Given the description of an element on the screen output the (x, y) to click on. 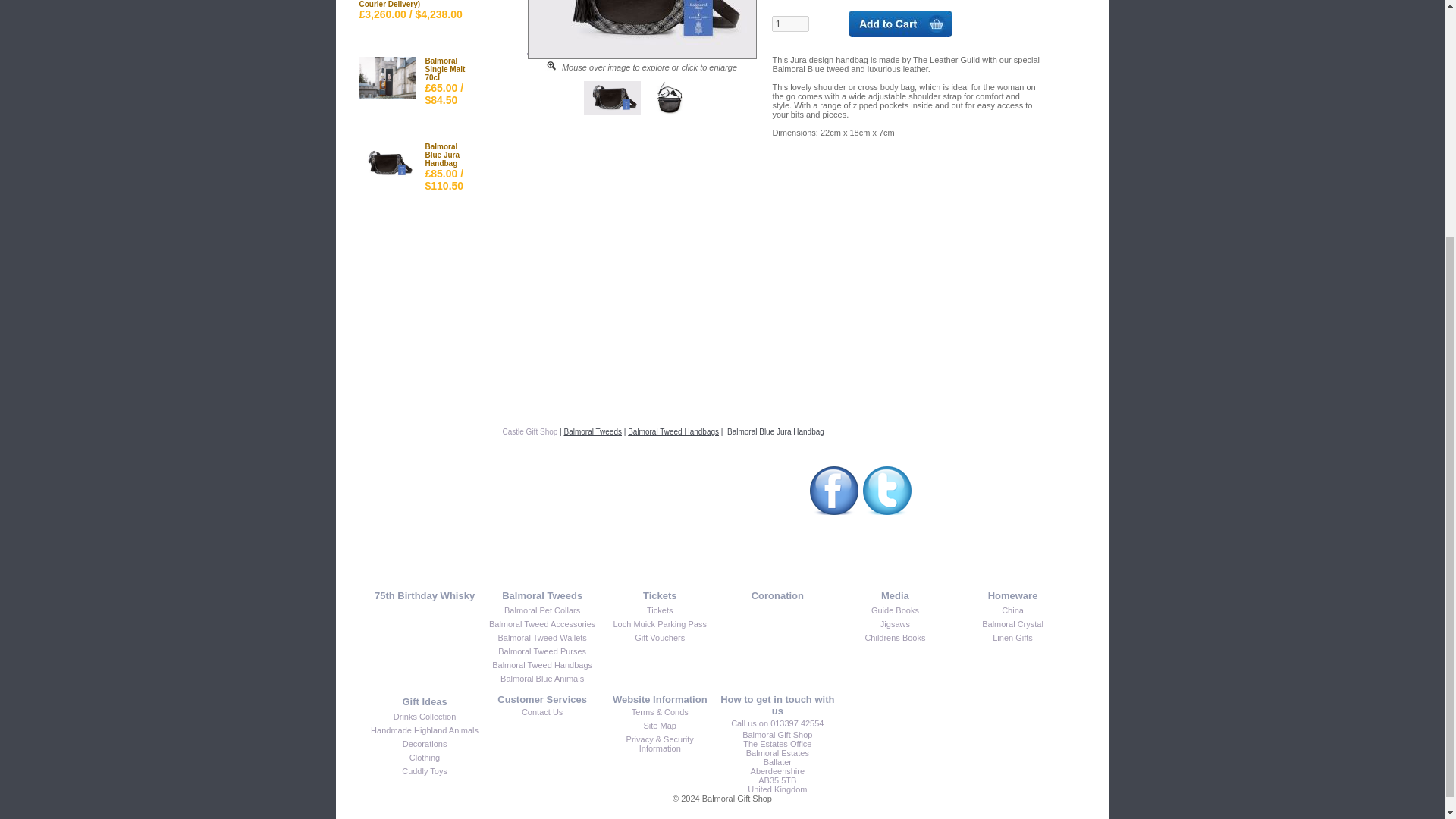
Balmoral Blue Jura Handbag (669, 112)
Balmoral Blue Jura Handbag (612, 112)
1 (790, 23)
